Given the description of an element on the screen output the (x, y) to click on. 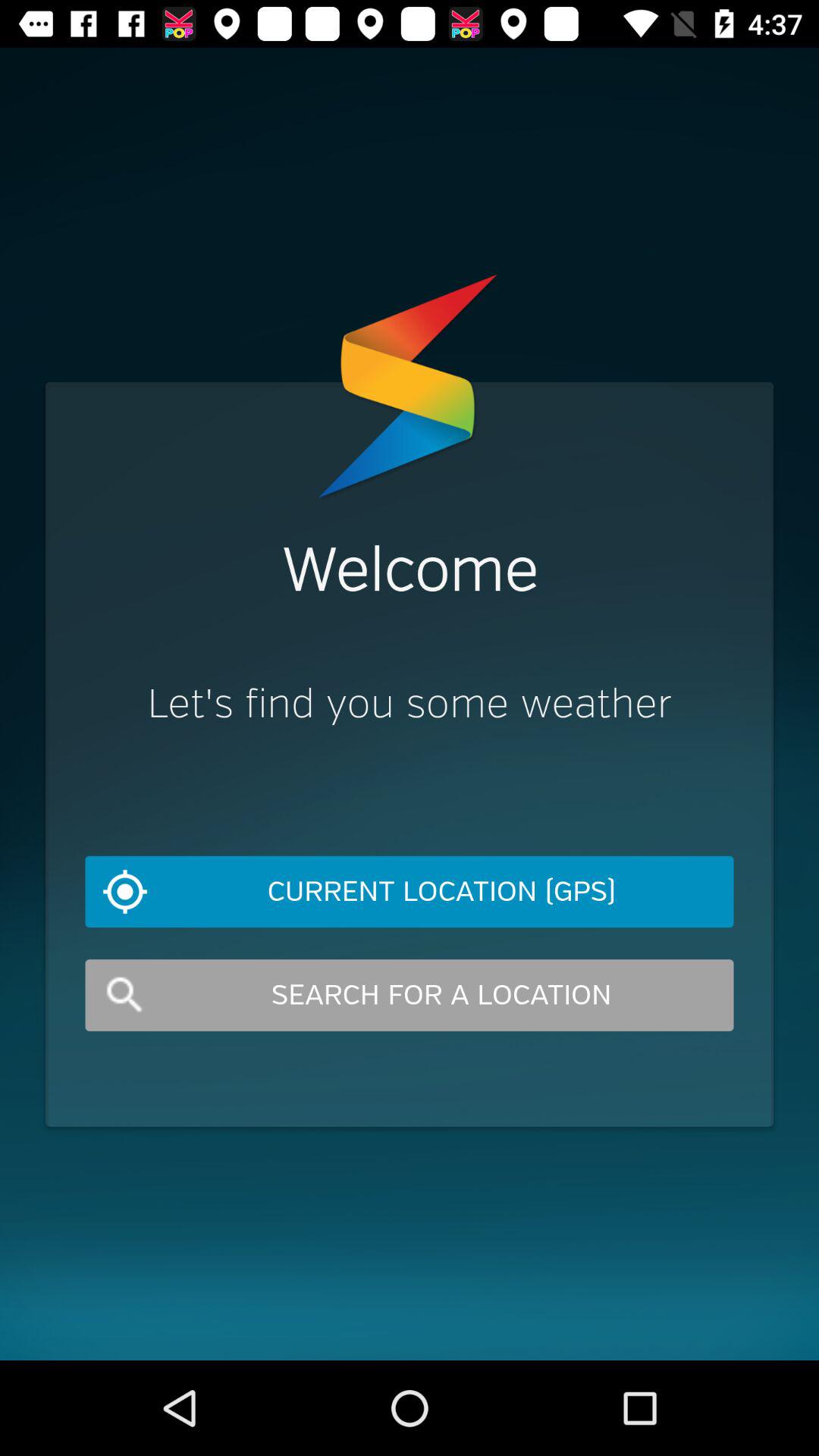
press current location (gps) item (409, 891)
